Given the description of an element on the screen output the (x, y) to click on. 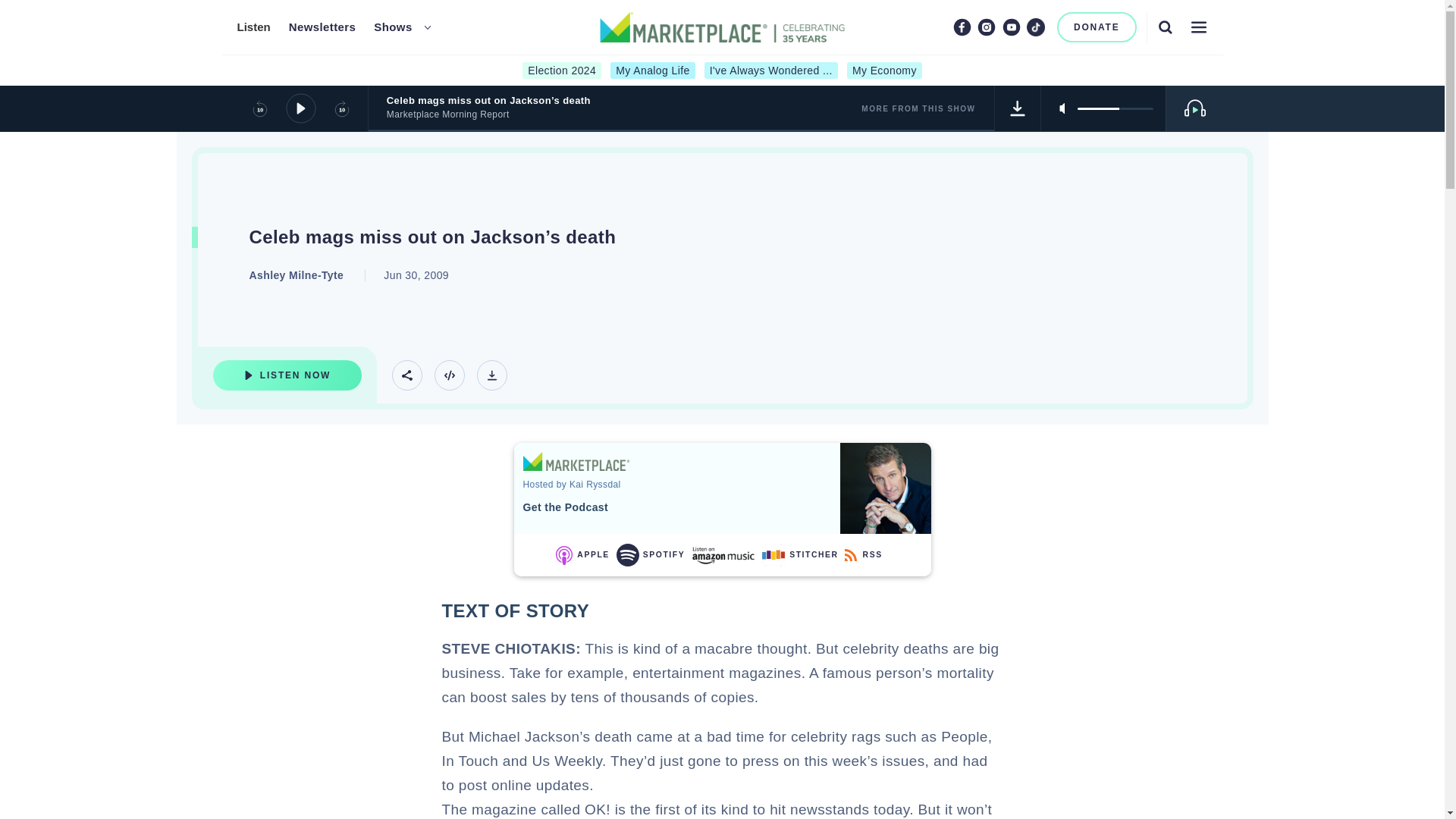
Shows (393, 26)
Menu (1198, 27)
volume (1115, 108)
TikTok (1035, 27)
Listen (252, 26)
Newsletters (322, 27)
Search (1164, 27)
5 (1115, 108)
Download Track (1017, 108)
Facebook (962, 27)
Marketplace (575, 461)
Instagram (985, 27)
Listen Now (286, 374)
Youtube (1011, 27)
